Given the description of an element on the screen output the (x, y) to click on. 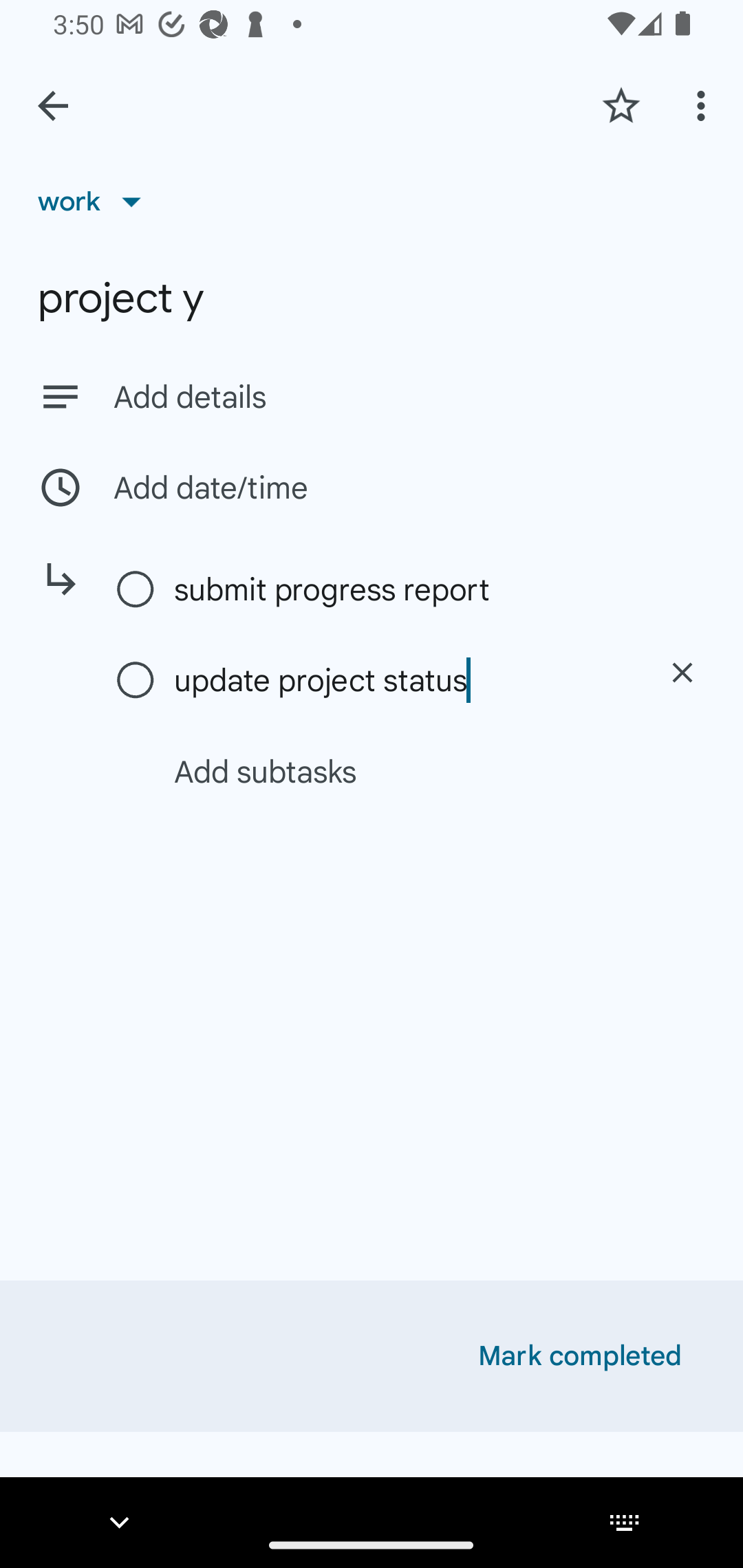
Back (53, 105)
Add star (620, 105)
More options (704, 105)
work List, work selected, 1 of 19 (95, 201)
project y (371, 298)
Add details (371, 396)
Add details (409, 397)
Add date/time (371, 487)
submit progress report (401, 589)
Mark as complete (136, 590)
update project status (401, 680)
Delete subtask (682, 672)
Mark as complete (136, 681)
Add subtasks (394, 770)
Mark completed (580, 1355)
